Given the description of an element on the screen output the (x, y) to click on. 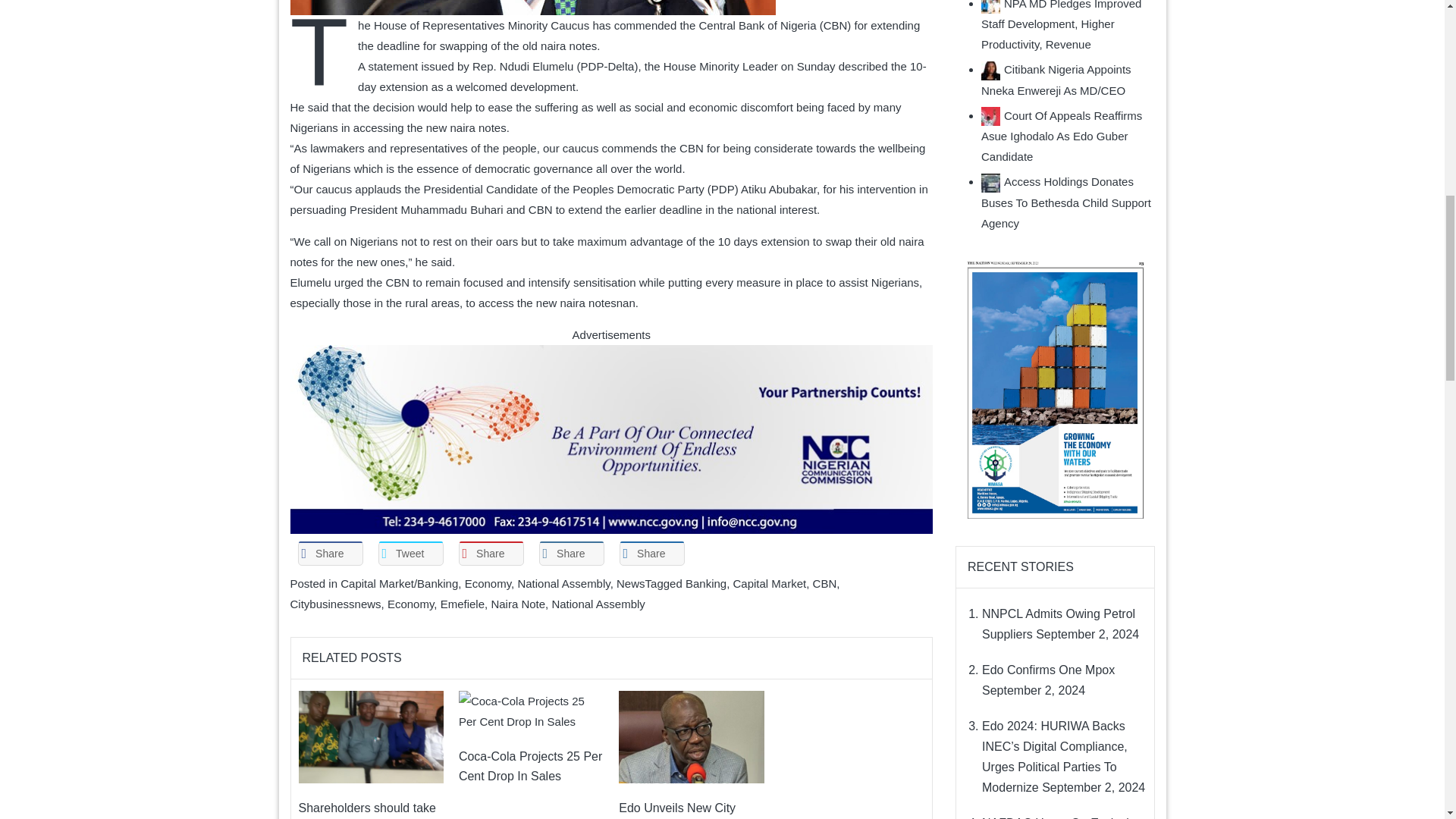
Share on Pinterest (490, 553)
Edo Unveils New City Project (690, 735)
Share on Digg (651, 553)
Coca-Cola Projects 25 Per Cent Drop In Sales (531, 711)
Share on Facebook (329, 553)
Edo Unveils New City Project (690, 736)
Share on LinkedIn (571, 553)
Share on Twitter (409, 553)
